Given the description of an element on the screen output the (x, y) to click on. 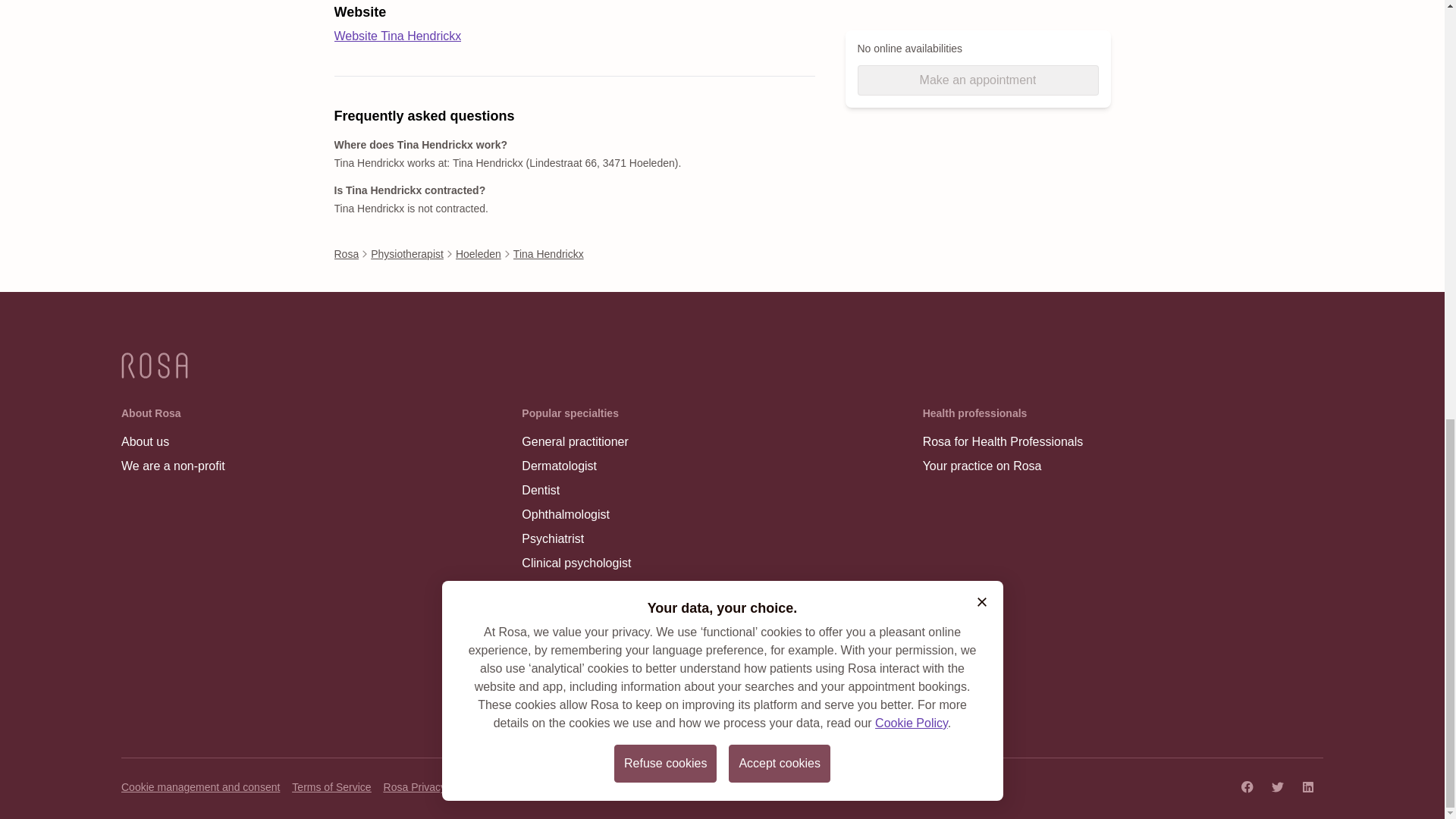
Psychiatrist (575, 539)
Facebook (1247, 786)
Osteopath D.O (575, 611)
About us (172, 441)
We are a non-profit (172, 466)
Ophthalmologist (575, 514)
Website Tina Hendrickx (397, 36)
LinkedIn (1307, 786)
Twitter (1277, 786)
Dermatologist (575, 466)
Physiotherapist (407, 253)
General practitioner (575, 441)
Dentist (575, 490)
Physiotherapist (575, 587)
Rosa (345, 253)
